Given the description of an element on the screen output the (x, y) to click on. 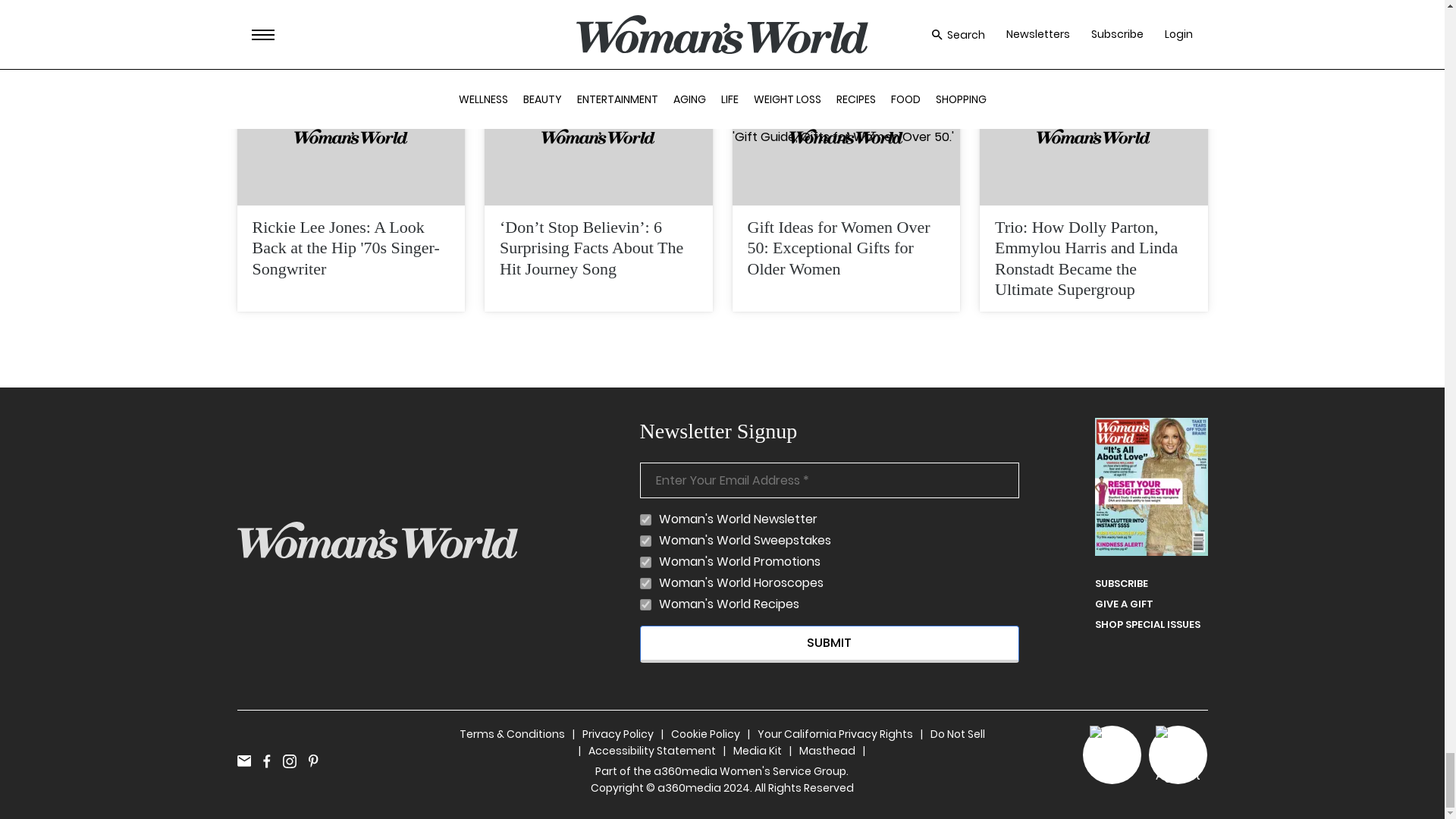
1 (645, 519)
1 (645, 604)
1 (645, 562)
1 (645, 583)
1 (645, 541)
